Given the description of an element on the screen output the (x, y) to click on. 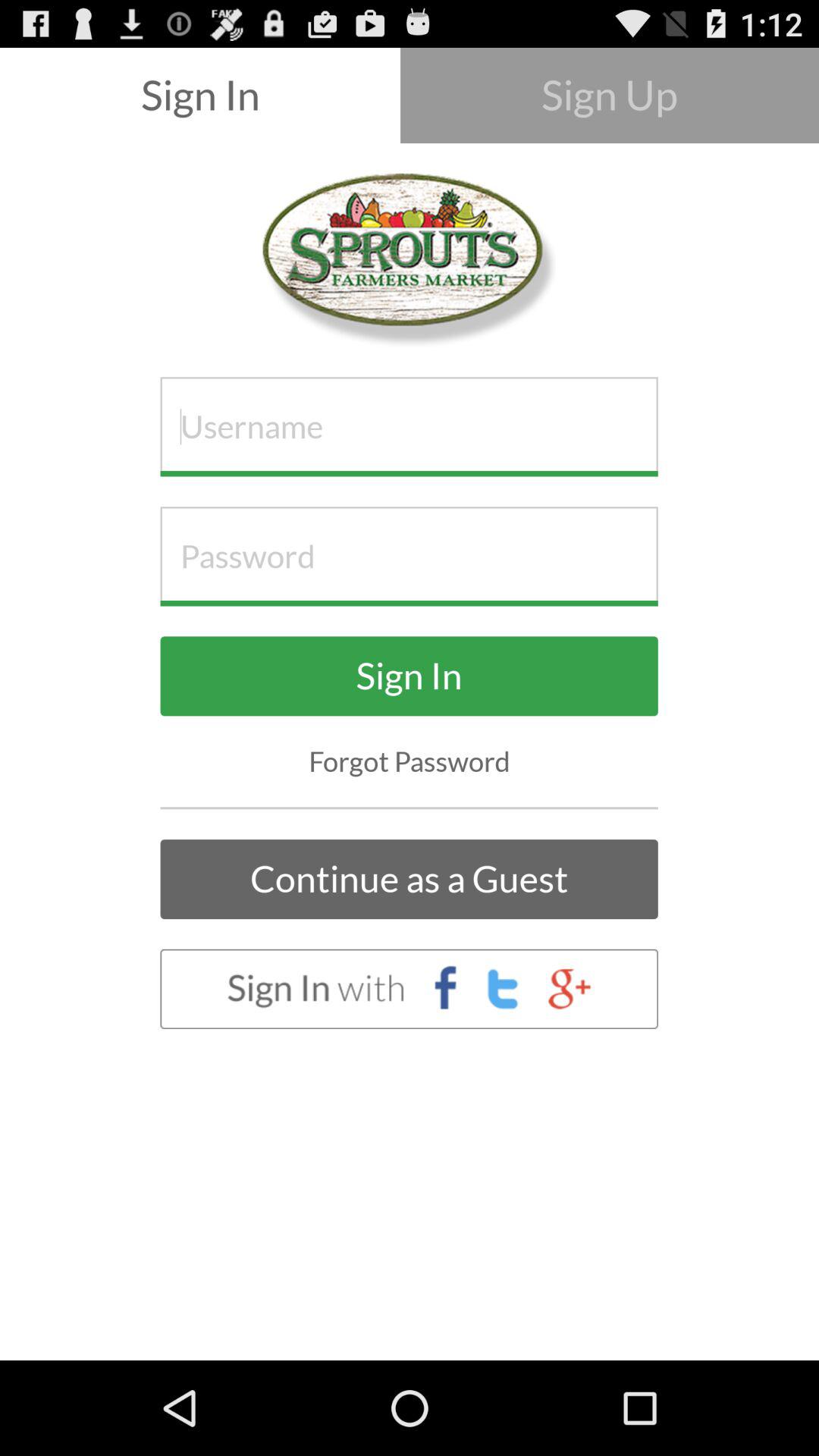
swipe until the continue as a icon (409, 879)
